Given the description of an element on the screen output the (x, y) to click on. 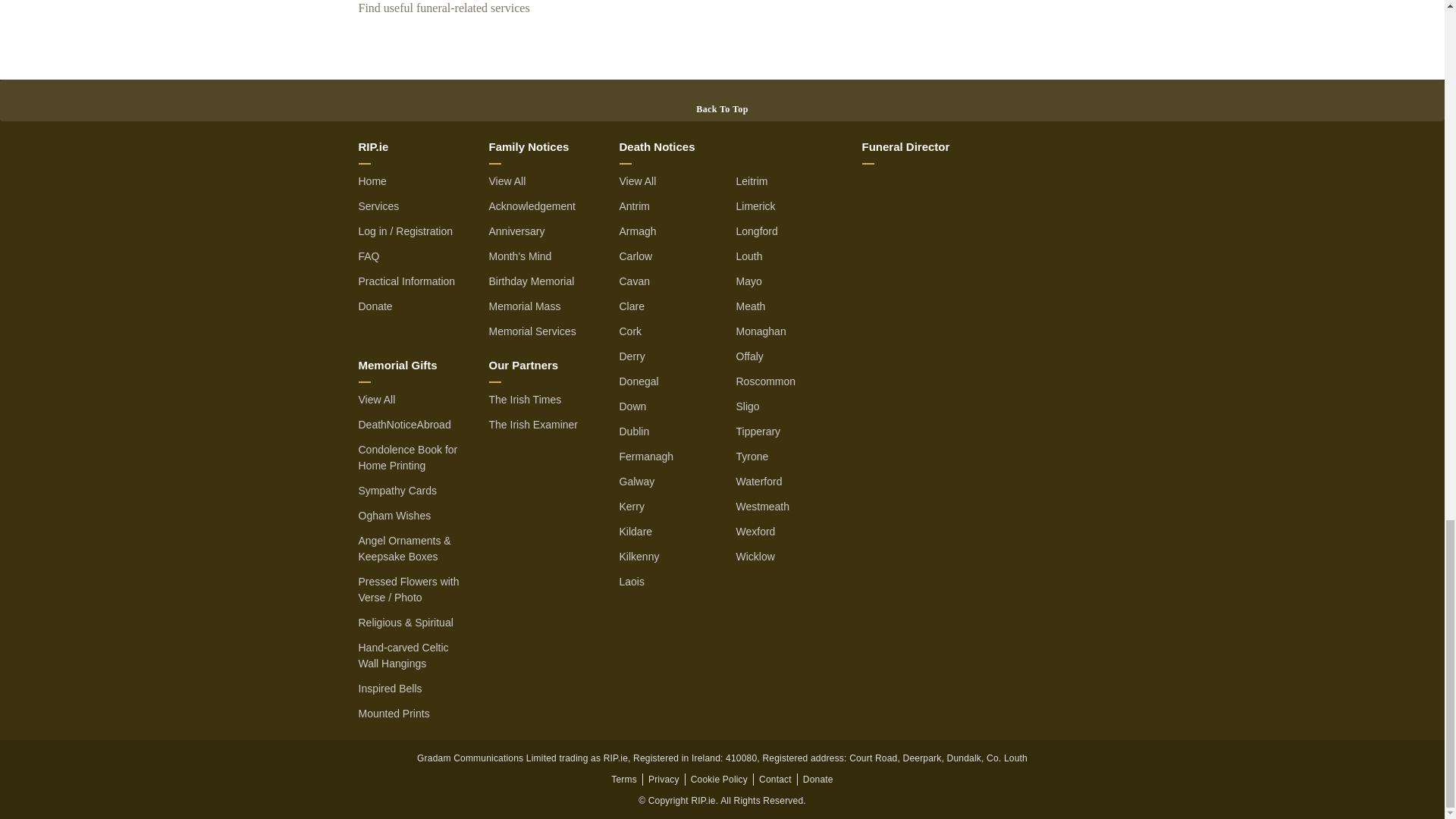
Condolence Book for Home Printing (407, 457)
Practical Information (406, 281)
DeathNoticeAbroad (403, 423)
View All (376, 399)
Contact (775, 778)
Privacy (663, 778)
Home (371, 181)
Donate (374, 305)
Services (378, 205)
Terms (624, 778)
